Given the description of an element on the screen output the (x, y) to click on. 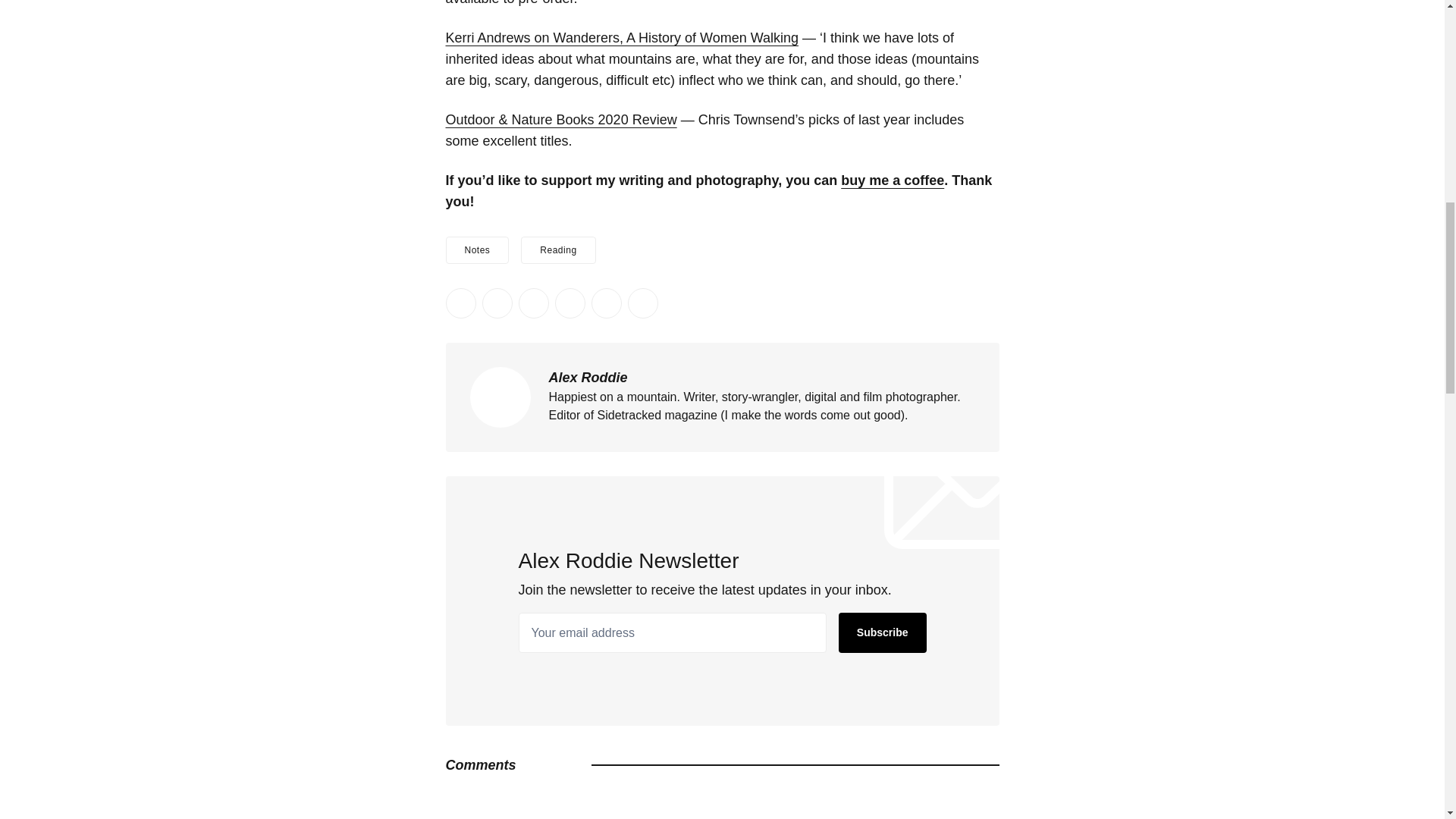
Subscribe (882, 632)
Share on Facebook (496, 303)
Share via Email (606, 303)
Kerri Andrews on Wanderers, A History of Women Walking (622, 37)
buy me a coffee (892, 180)
Share on LinkedIn (533, 303)
Share on Twitter (460, 303)
Copy link (642, 303)
Notes (477, 249)
Share on Pinterest (569, 303)
